Given the description of an element on the screen output the (x, y) to click on. 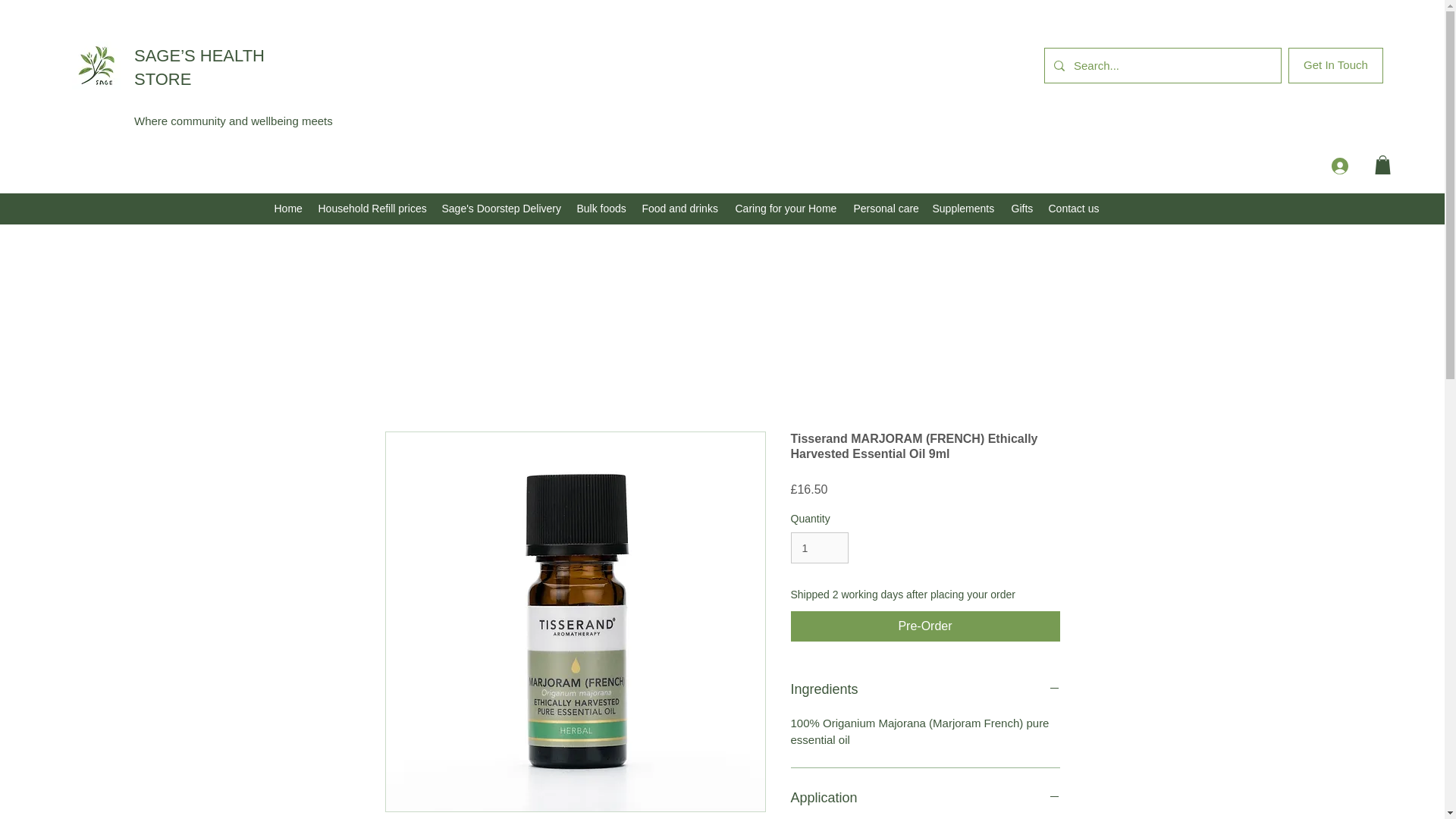
Get In Touch (1335, 65)
Home (288, 209)
1 (818, 547)
Sage's Doorstep Delivery (501, 209)
Household Refill prices (372, 209)
Log In (1359, 165)
